Given the description of an element on the screen output the (x, y) to click on. 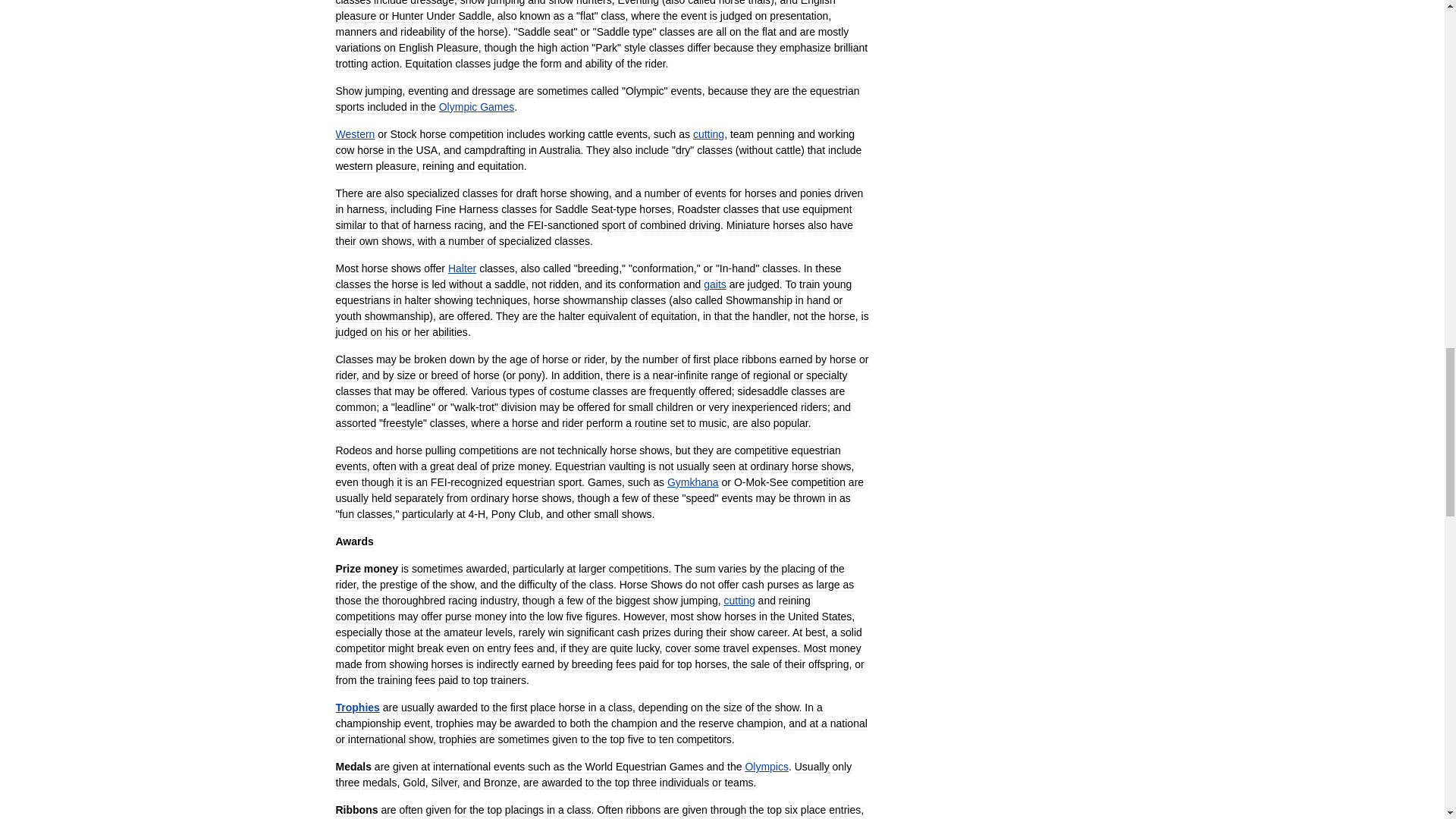
cutting (708, 133)
Western (354, 133)
Halter (462, 268)
Olympic Games (477, 106)
